Given the description of an element on the screen output the (x, y) to click on. 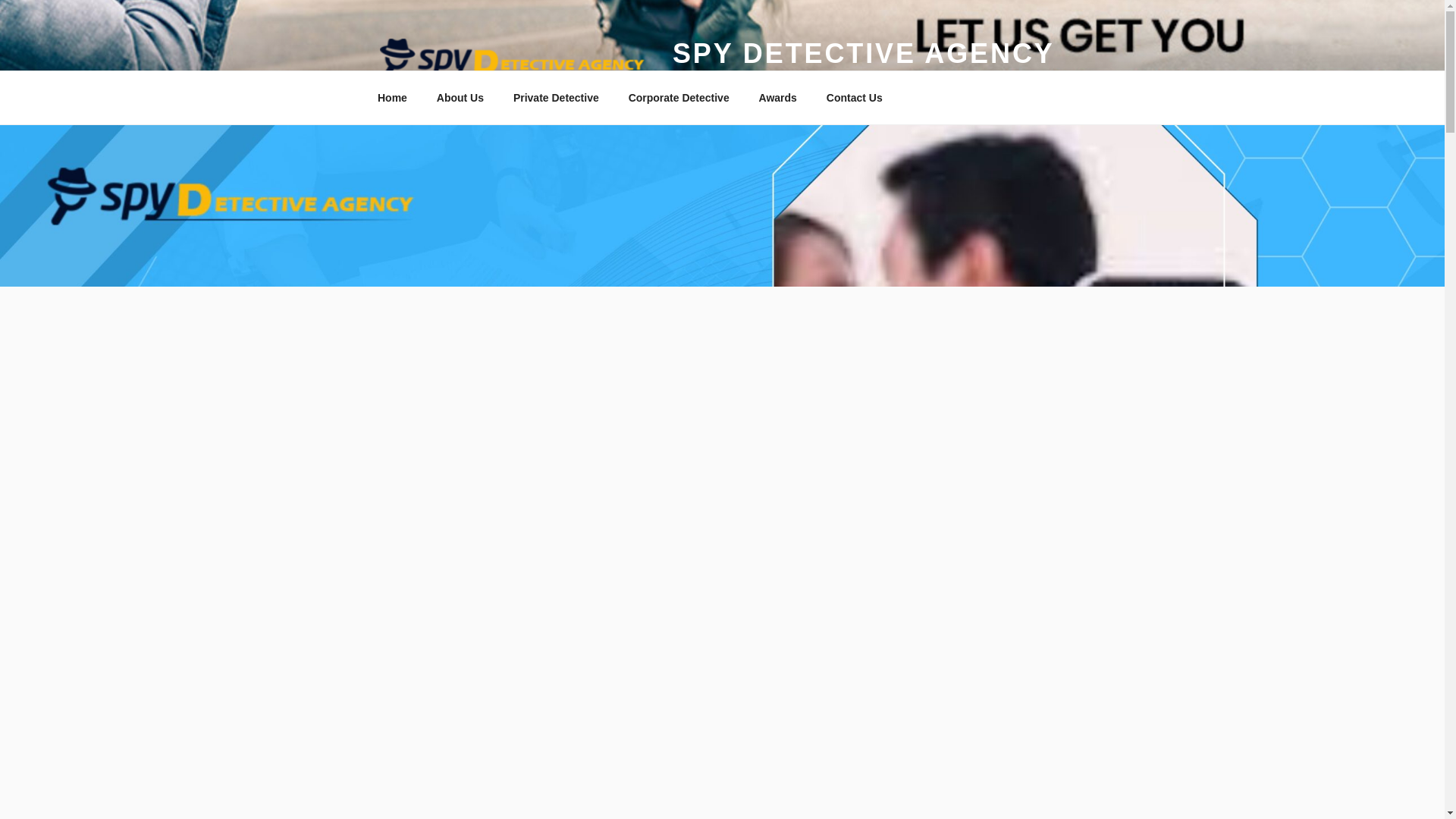
Awards (777, 97)
SPY DETECTIVE AGENCY (863, 52)
Corporate Detective (678, 97)
About Us (459, 97)
Home (392, 97)
Contact Us (853, 97)
Private Detective (555, 97)
